Given the description of an element on the screen output the (x, y) to click on. 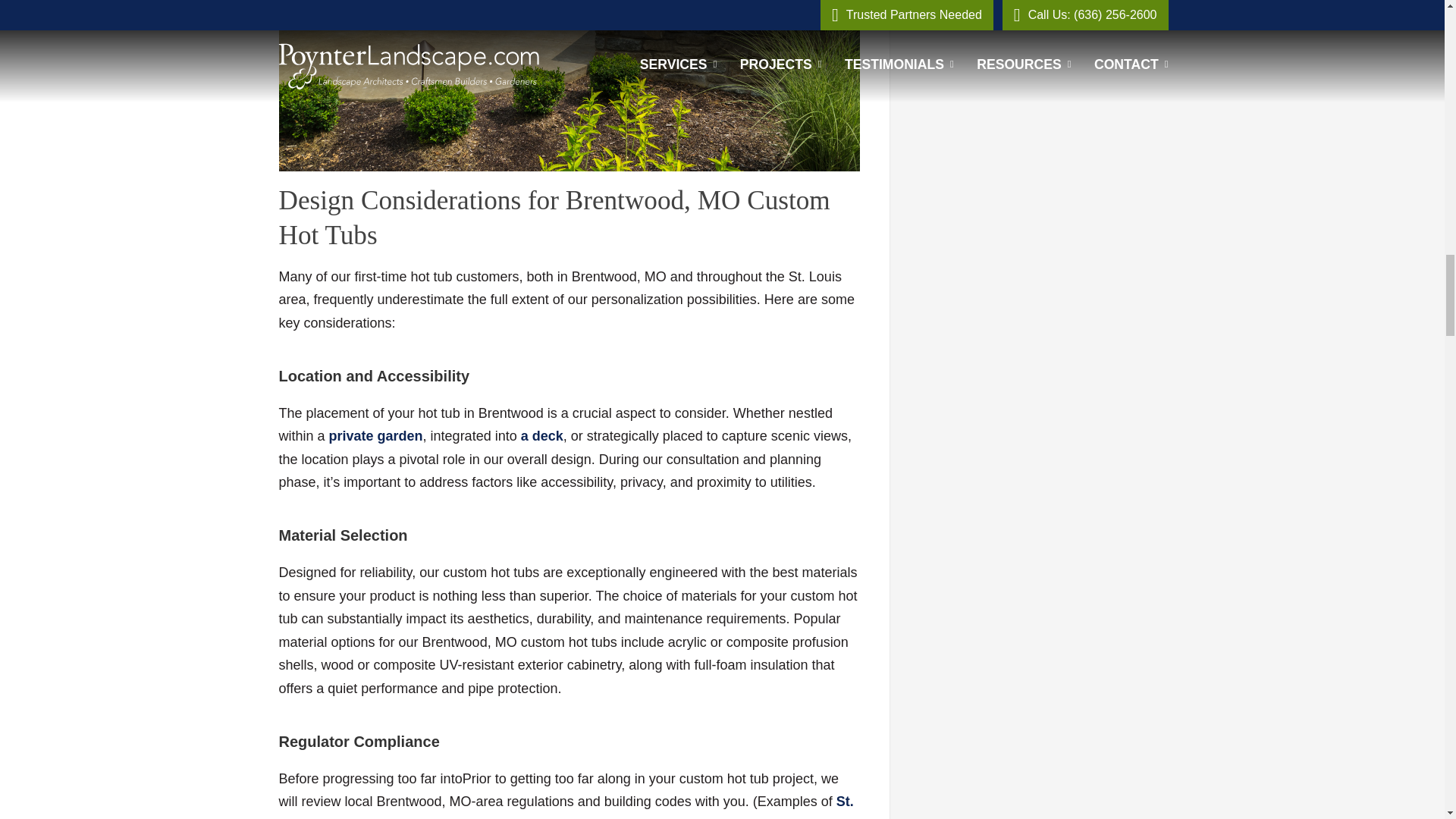
Custom Hot Tubs Brentwood, MO - municode.com (566, 806)
Custom Hot Tubs Brentwood, MO - sccmo.org (457, 818)
